Given the description of an element on the screen output the (x, y) to click on. 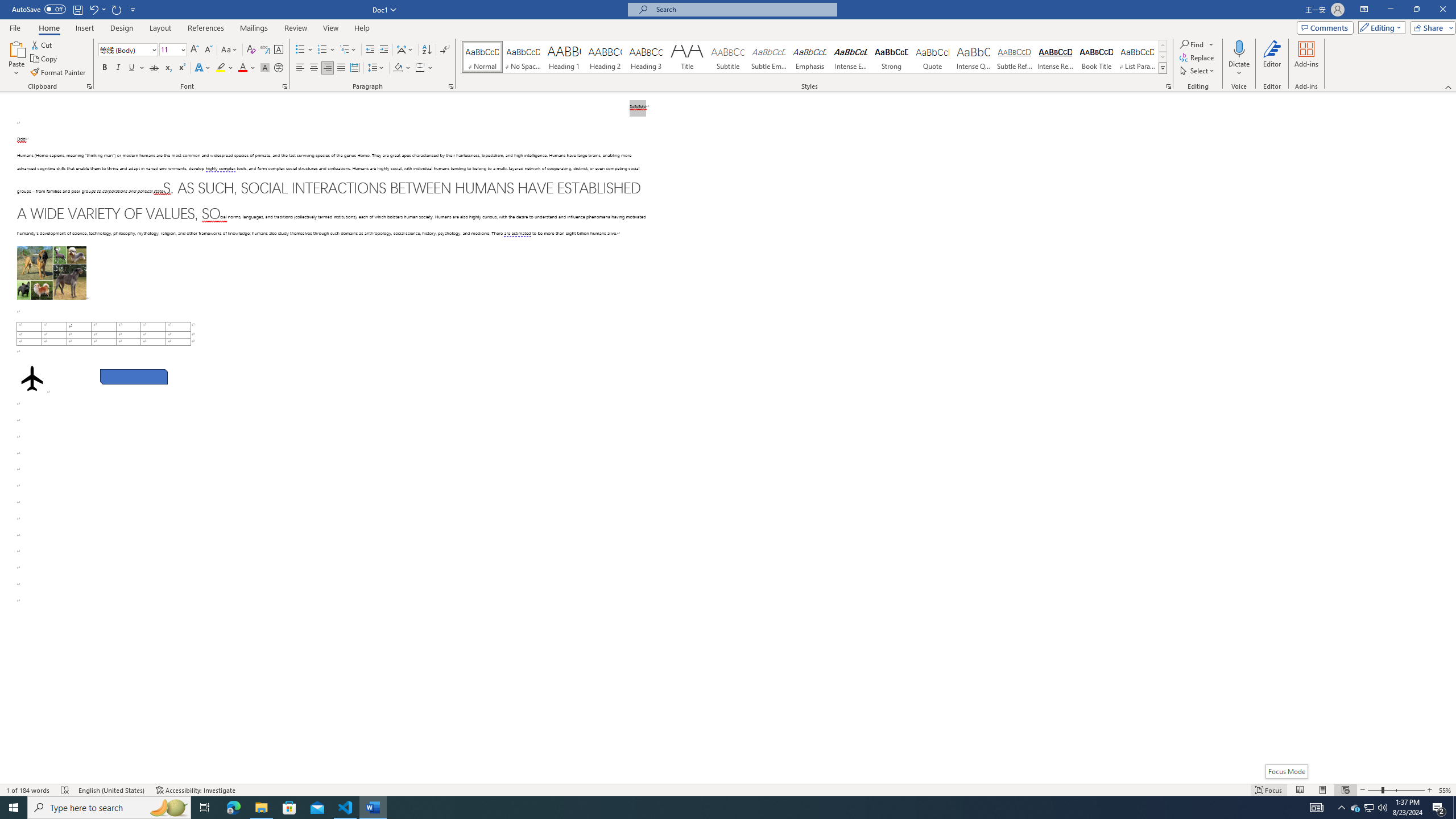
Subtle Reference (1014, 56)
